Given the description of an element on the screen output the (x, y) to click on. 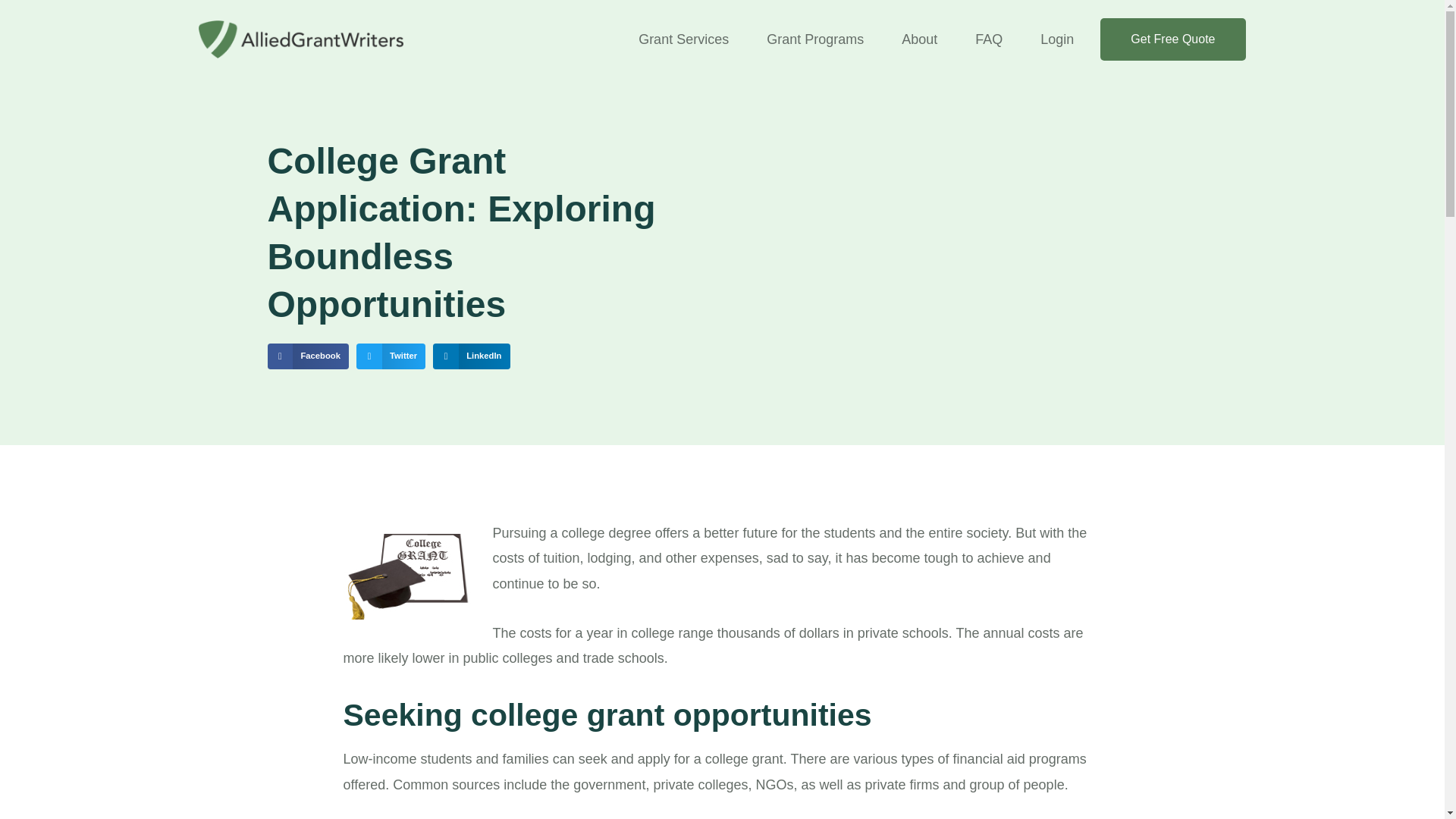
Grant Programs (815, 39)
Get Free Quote (1172, 39)
FAQ (988, 39)
About (919, 39)
Grant Services (683, 39)
Login (1057, 39)
